Given the description of an element on the screen output the (x, y) to click on. 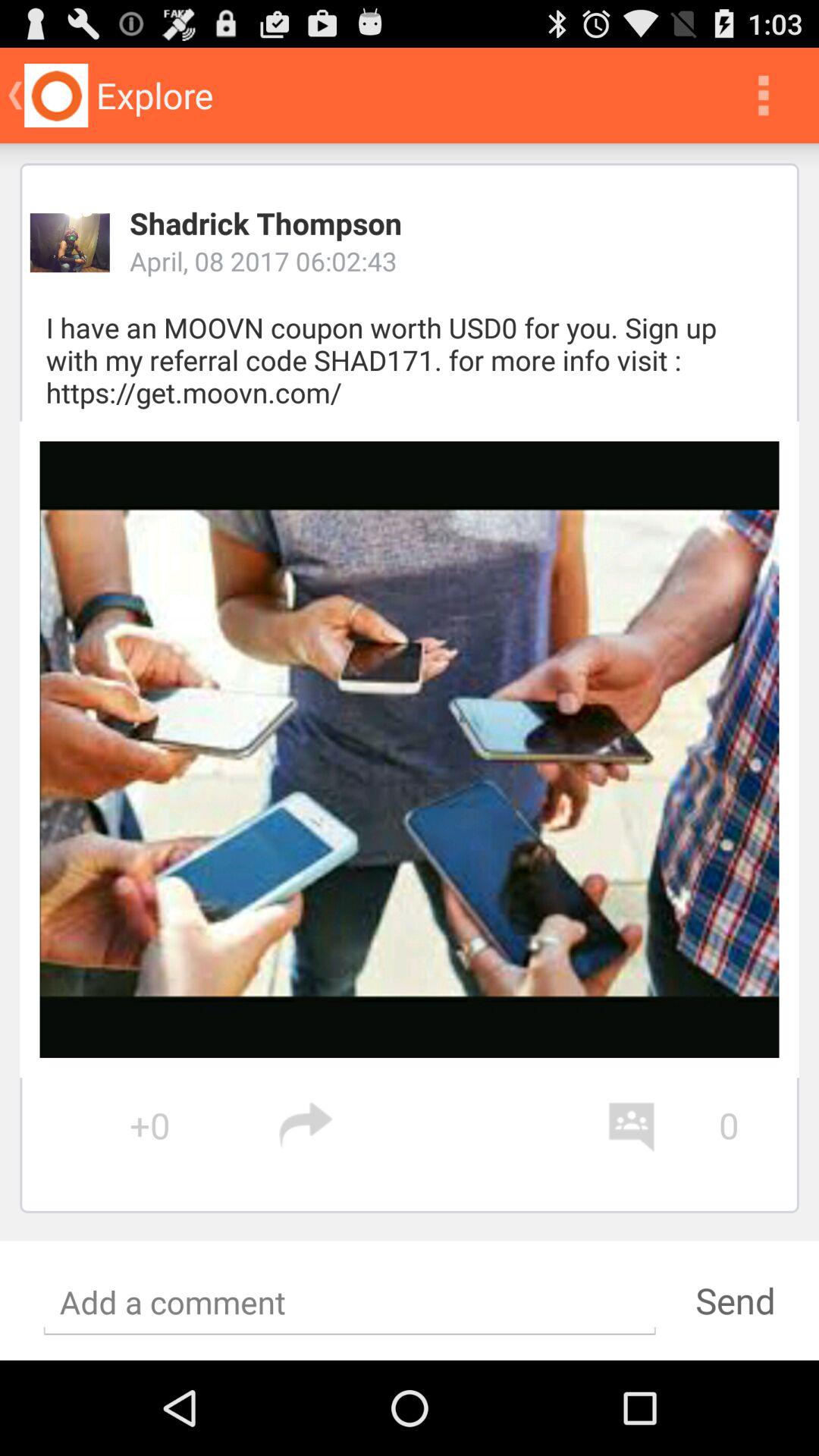
scroll until send item (735, 1300)
